Given the description of an element on the screen output the (x, y) to click on. 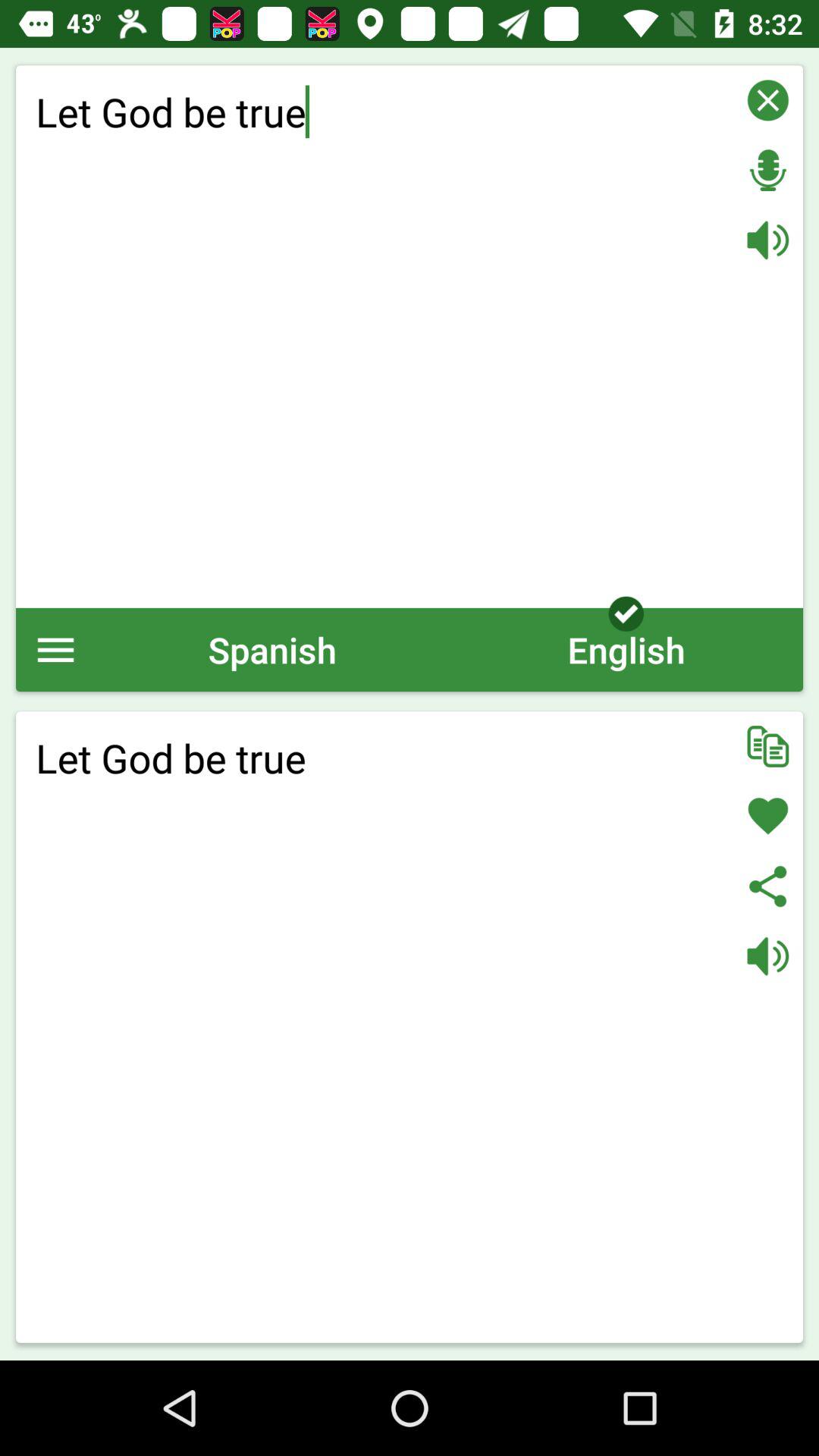
launch icon to the left of english item (272, 649)
